Given the description of an element on the screen output the (x, y) to click on. 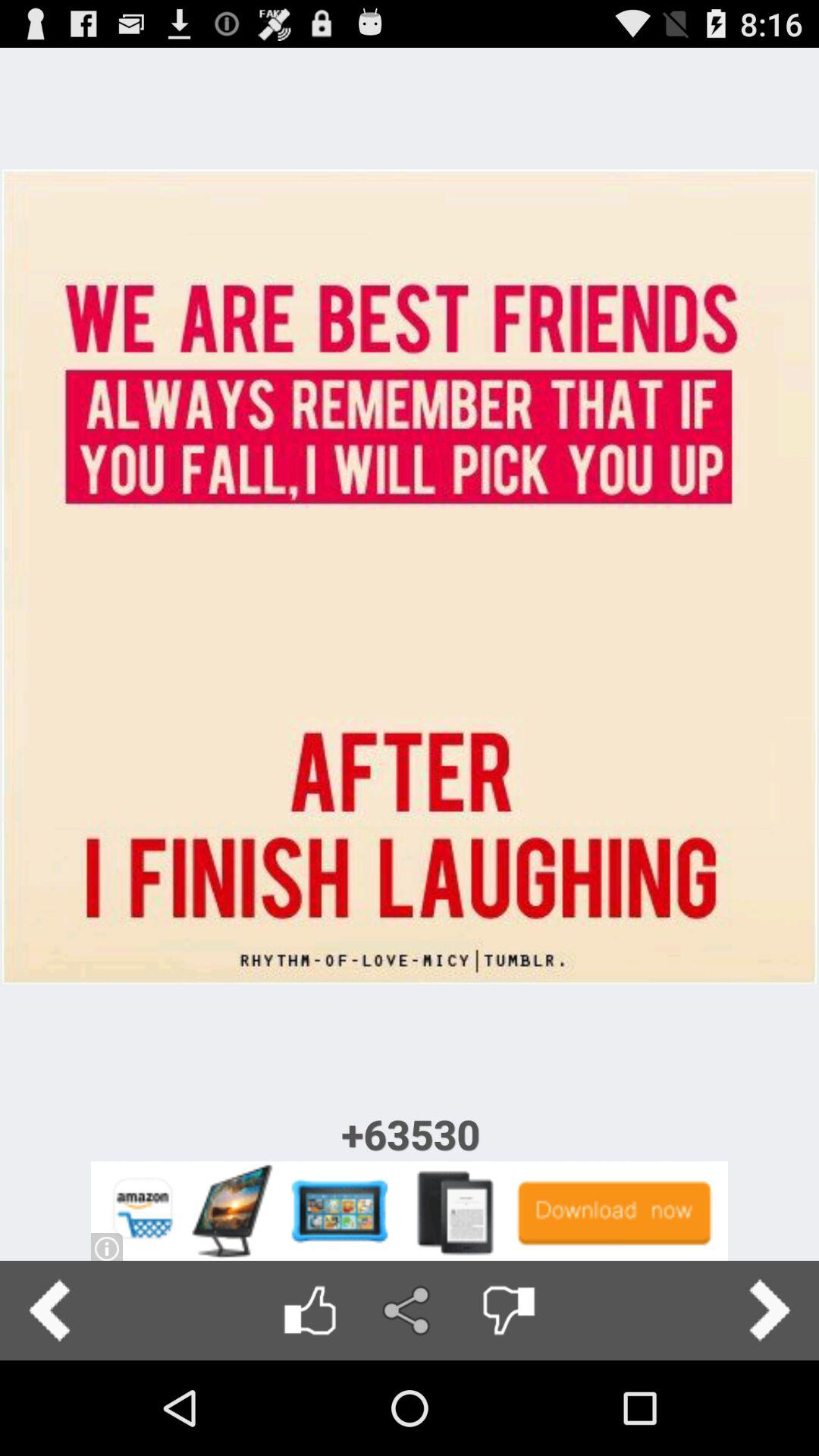
start download (409, 1210)
